Given the description of an element on the screen output the (x, y) to click on. 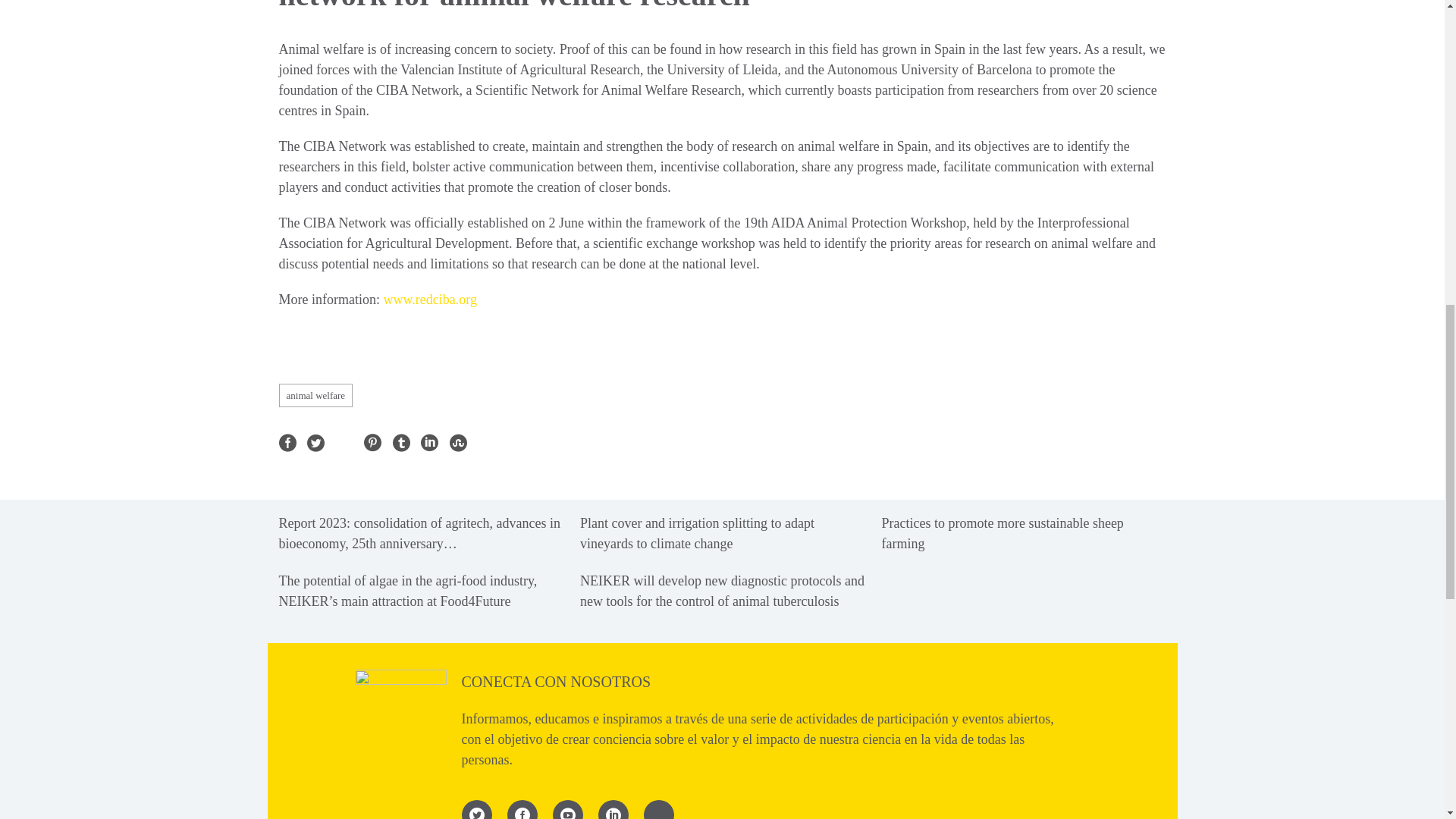
StumbleUpon (456, 442)
LinkedIn (429, 442)
Twitter (315, 442)
Tumblr (401, 442)
Facebook (288, 442)
Pinterest (372, 442)
Google Plus (343, 442)
